Given the description of an element on the screen output the (x, y) to click on. 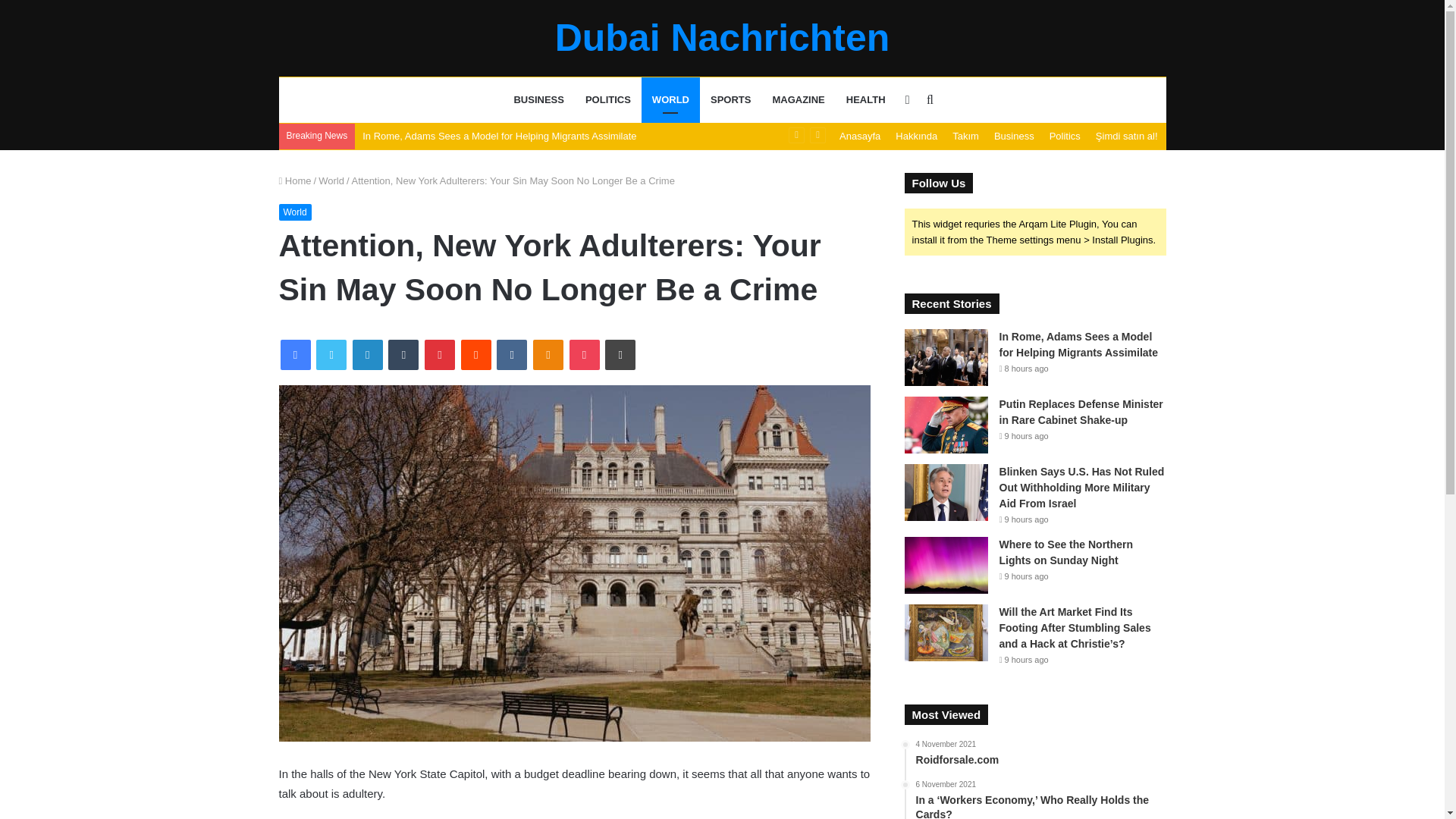
Anasayfa (859, 135)
Reddit (476, 354)
Facebook (296, 354)
Print (619, 354)
Home (295, 180)
World (330, 180)
LinkedIn (367, 354)
Politics (1064, 135)
VKontakte (511, 354)
Print (619, 354)
